Given the description of an element on the screen output the (x, y) to click on. 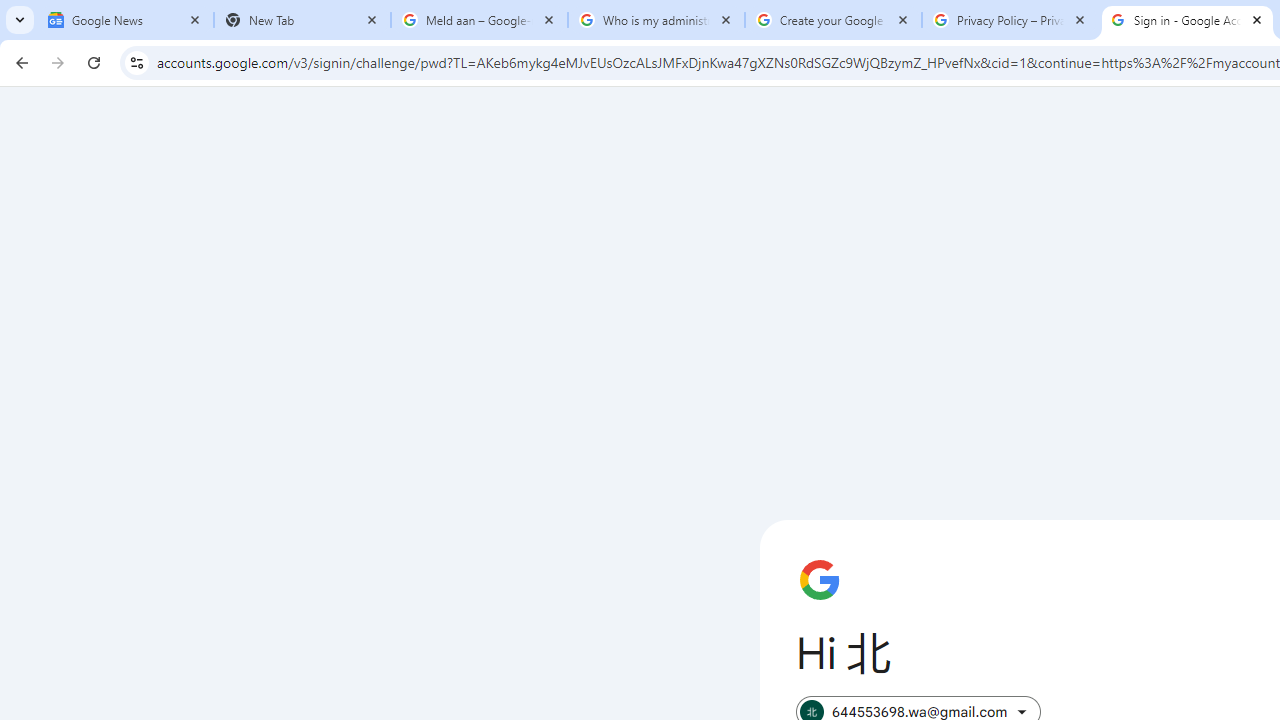
Who is my administrator? - Google Account Help (656, 20)
New Tab (301, 20)
Google News (125, 20)
Create your Google Account (833, 20)
